Given the description of an element on the screen output the (x, y) to click on. 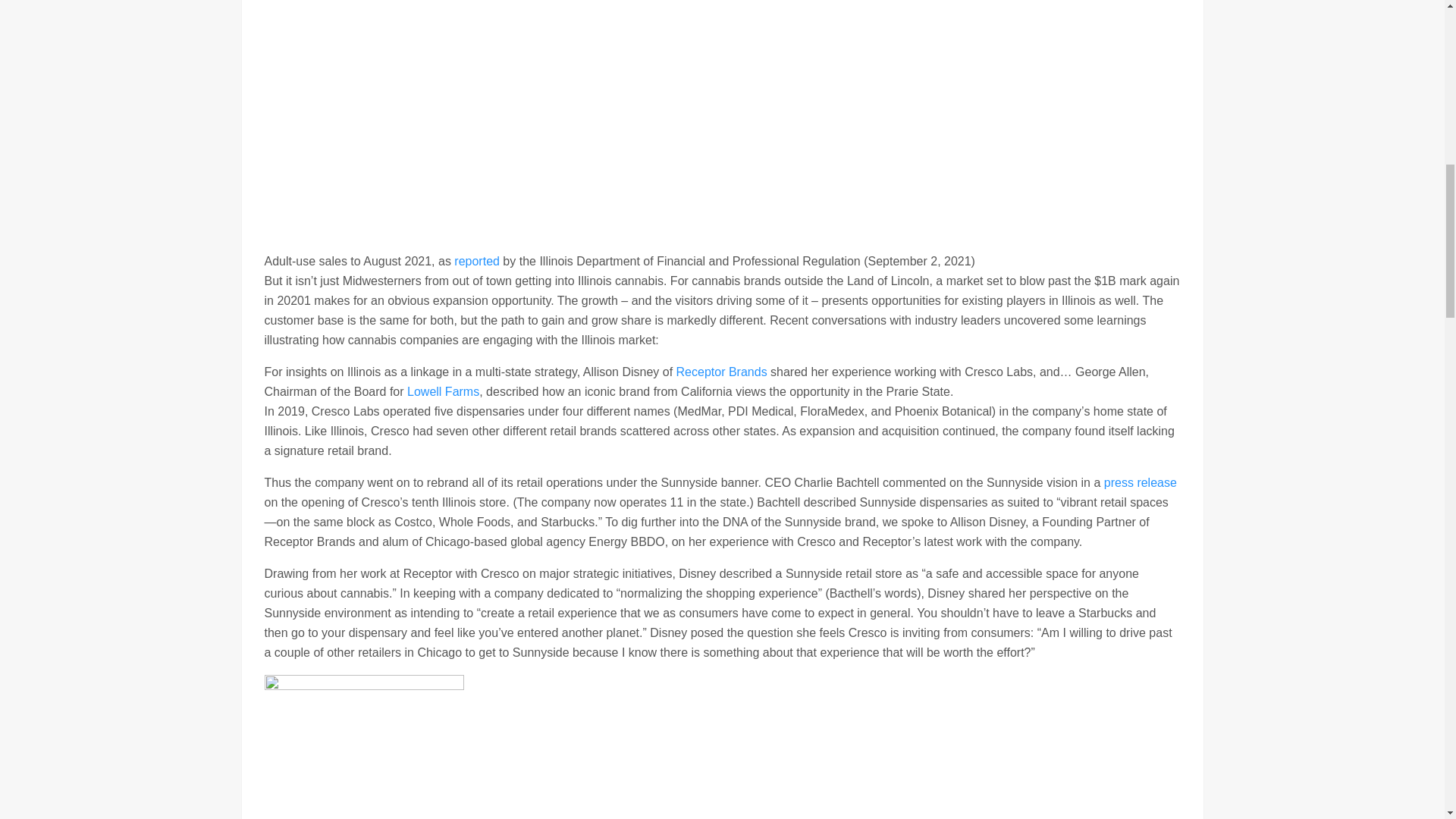
Receptor Brands (722, 371)
press release (1139, 481)
Lowell Farms (443, 391)
reported (476, 260)
